Given the description of an element on the screen output the (x, y) to click on. 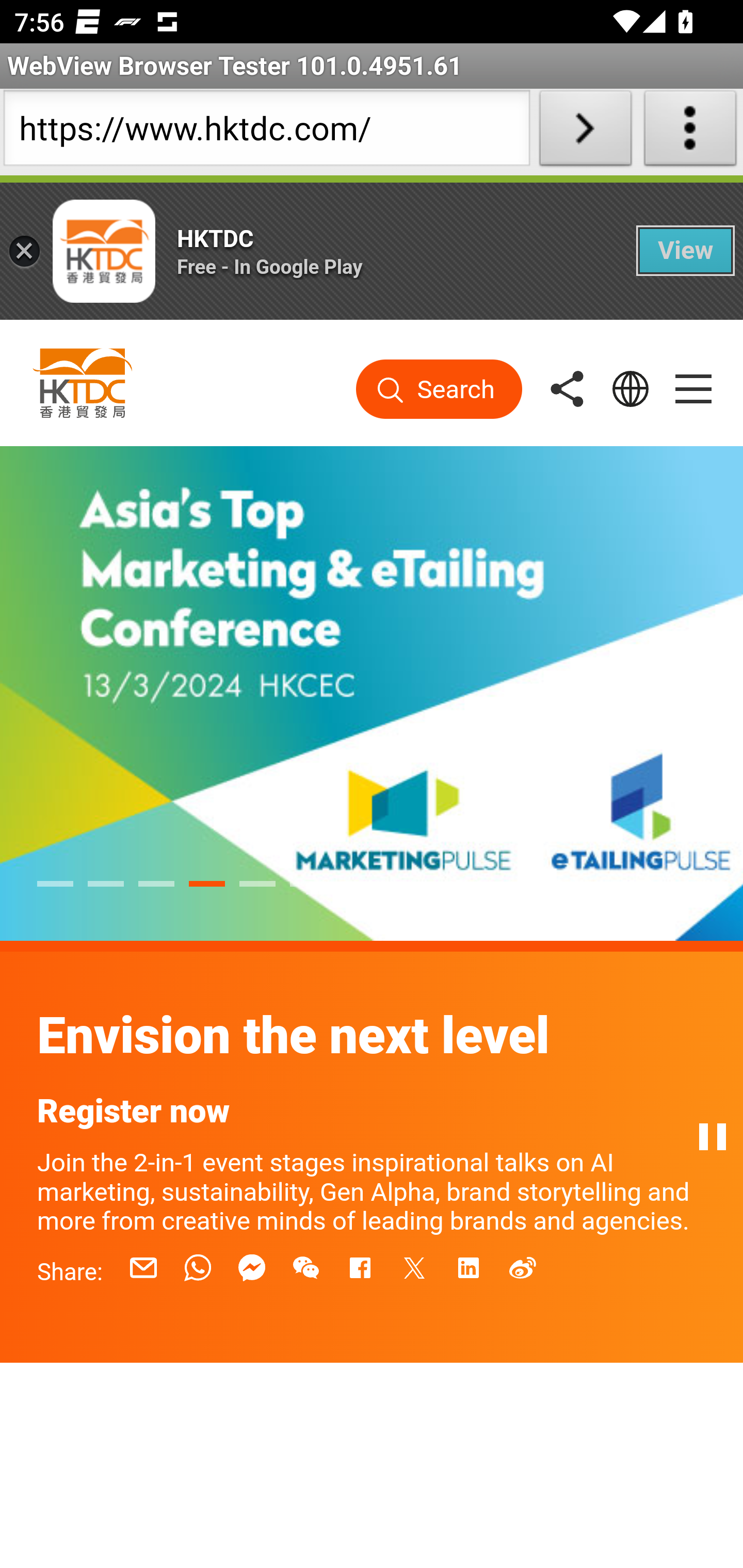
https://www.hktdc.com/ (266, 132)
Load URL (585, 132)
About WebView (690, 132)
View (685, 249)
close (24, 250)
index (371, 699)
Gazing to the future (372, 1049)
10 highlighted events (372, 1112)
Pause / Play Button (711, 1135)
Share Gazing to the future on Email (143, 1266)
Share Gazing to the future on Whatsapp (197, 1266)
Share Gazing to the future on Facebook Messager (251, 1266)
"Scan QR Code" in WeChat and tap "..." to share. (305, 1266)
Share Gazing to the future on Facebook  (359, 1266)
Share Gazing to the future on Twitter  (413, 1266)
Share Gazing to the future on Linkedin (468, 1266)
Share Gazing to the future on Weibo (522, 1266)
